Given the description of an element on the screen output the (x, y) to click on. 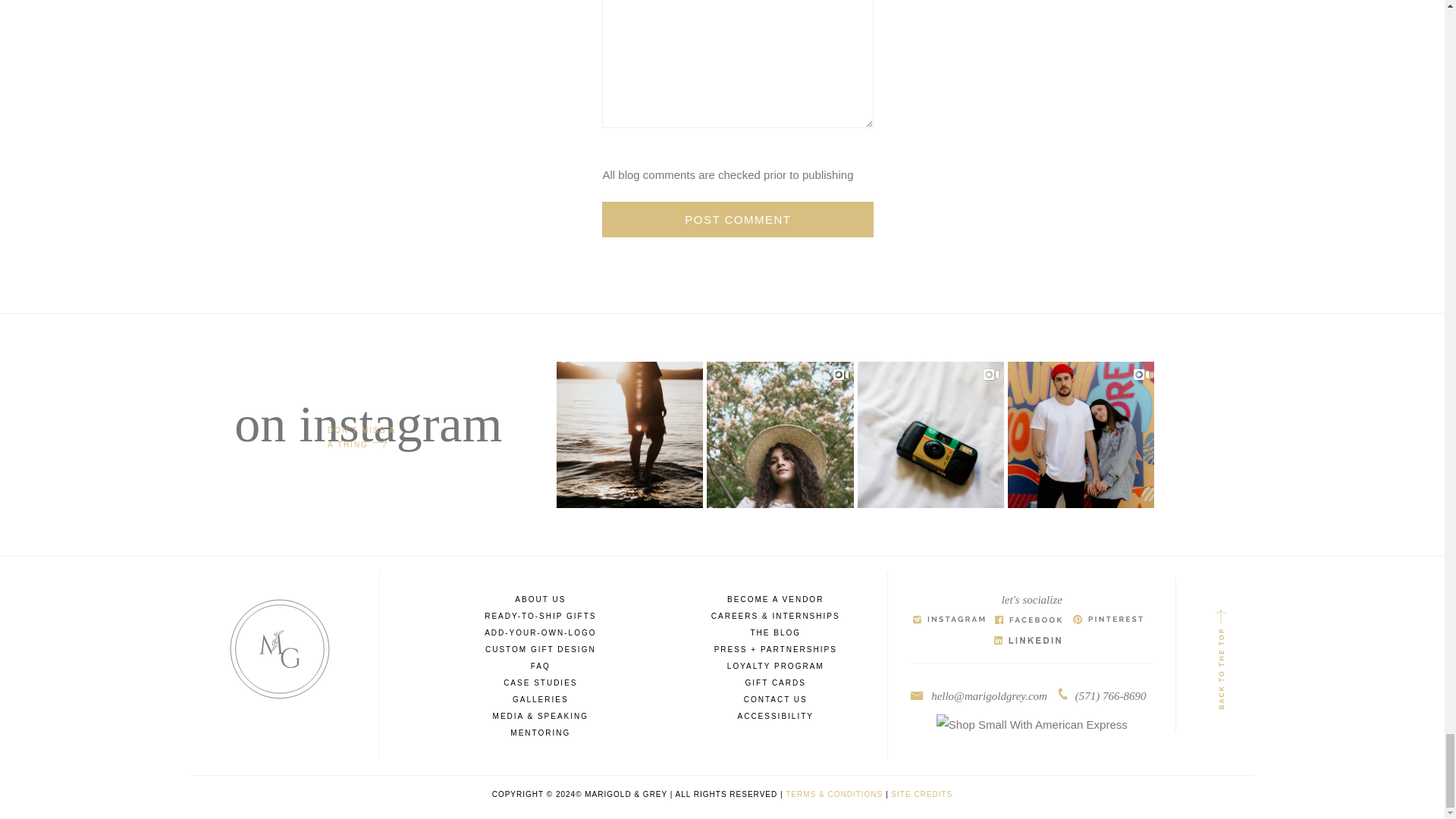
Post comment (737, 219)
